Given the description of an element on the screen output the (x, y) to click on. 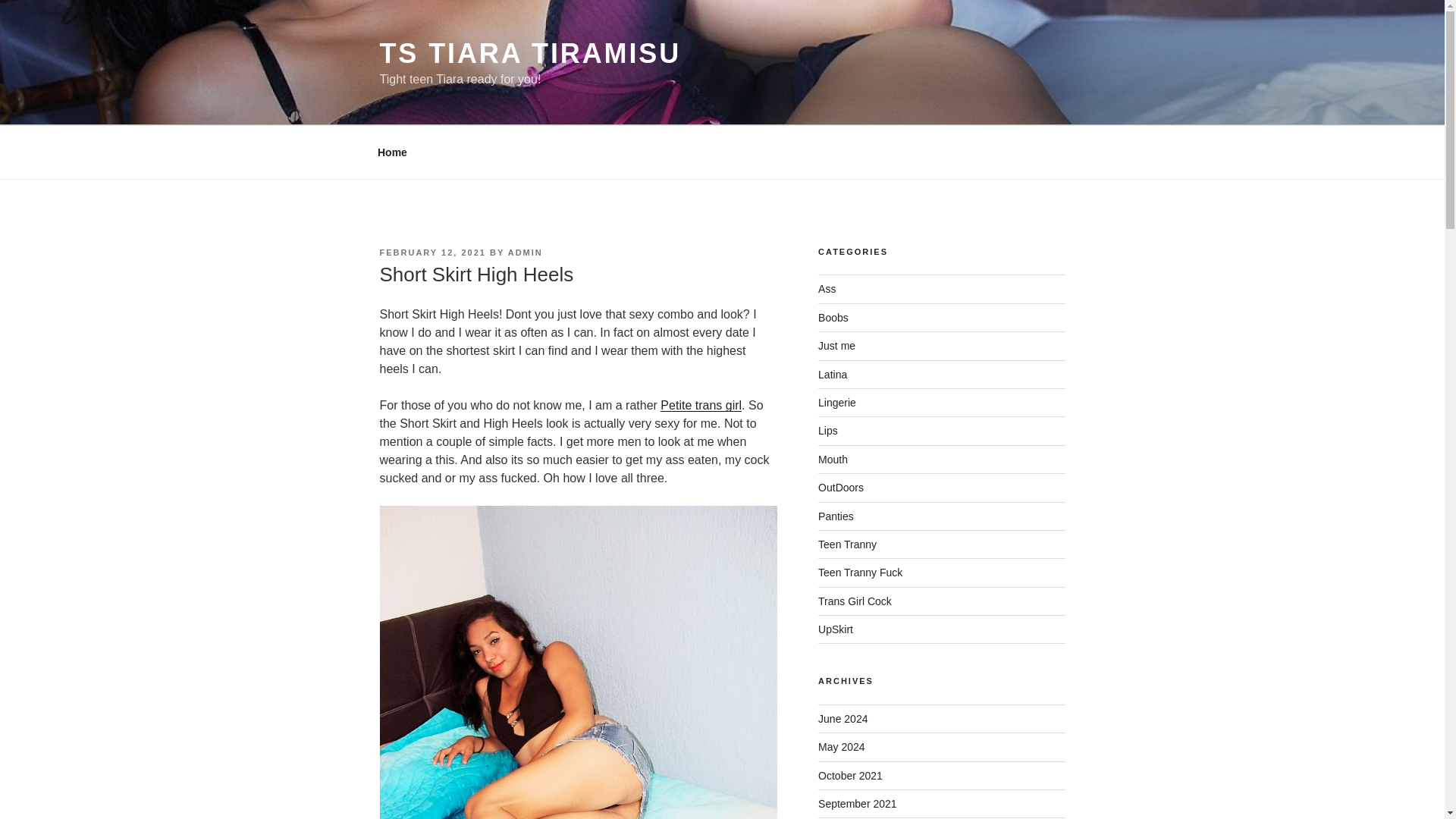
Lingerie (837, 402)
Boobs (833, 317)
Mouth (832, 459)
Teen Tranny (847, 544)
May 2024 (841, 746)
June 2024 (842, 718)
Home (392, 151)
TS TIARA TIRAMISU (529, 52)
UpSkirt (835, 629)
September 2021 (857, 803)
Petite trans girl (701, 404)
OutDoors (840, 487)
Just me (837, 345)
Latina (832, 374)
October 2021 (850, 775)
